Given the description of an element on the screen output the (x, y) to click on. 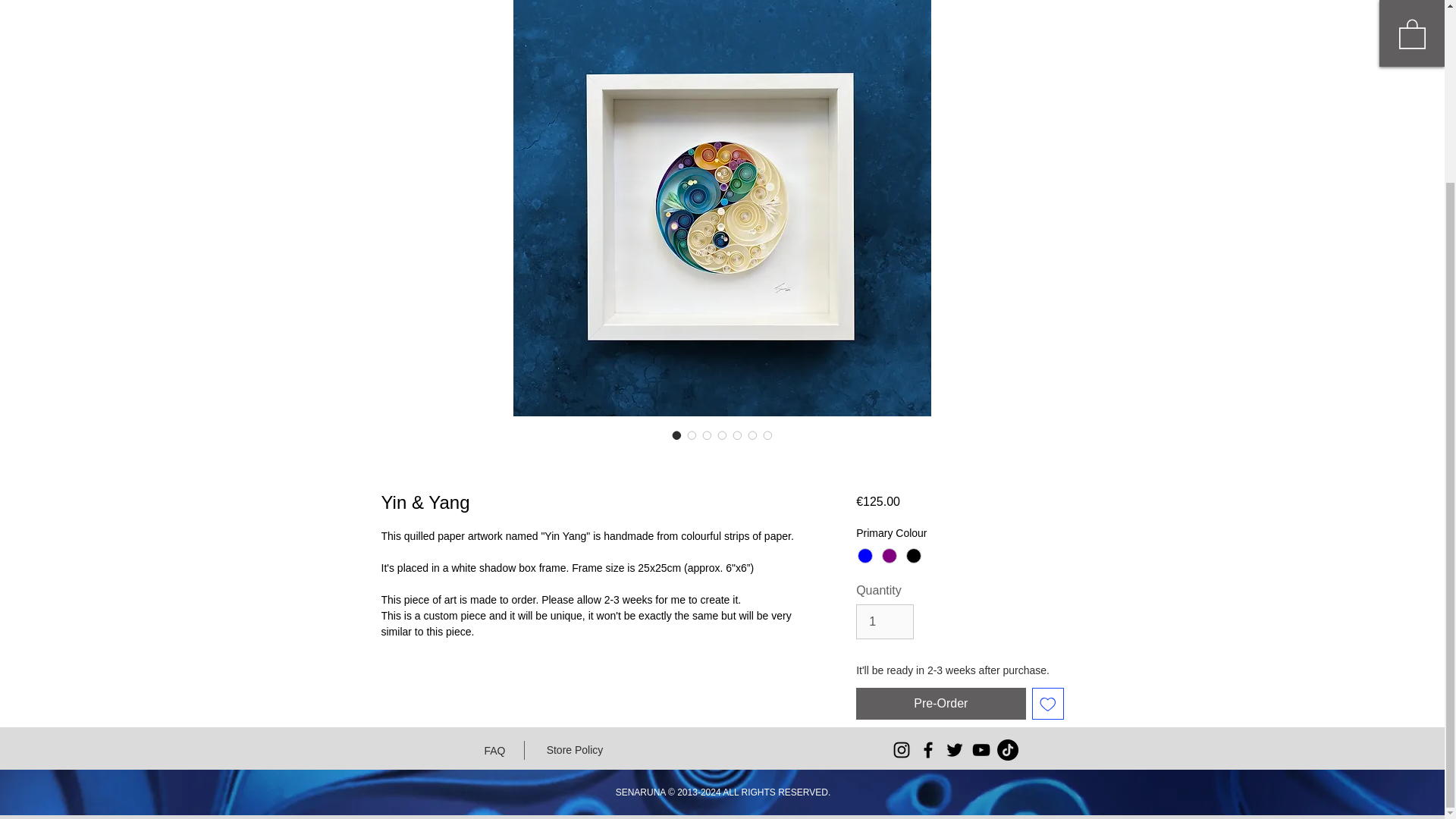
Store Policy (573, 750)
FAQ (494, 751)
1 (885, 621)
Pre-Order (940, 703)
